Given the description of an element on the screen output the (x, y) to click on. 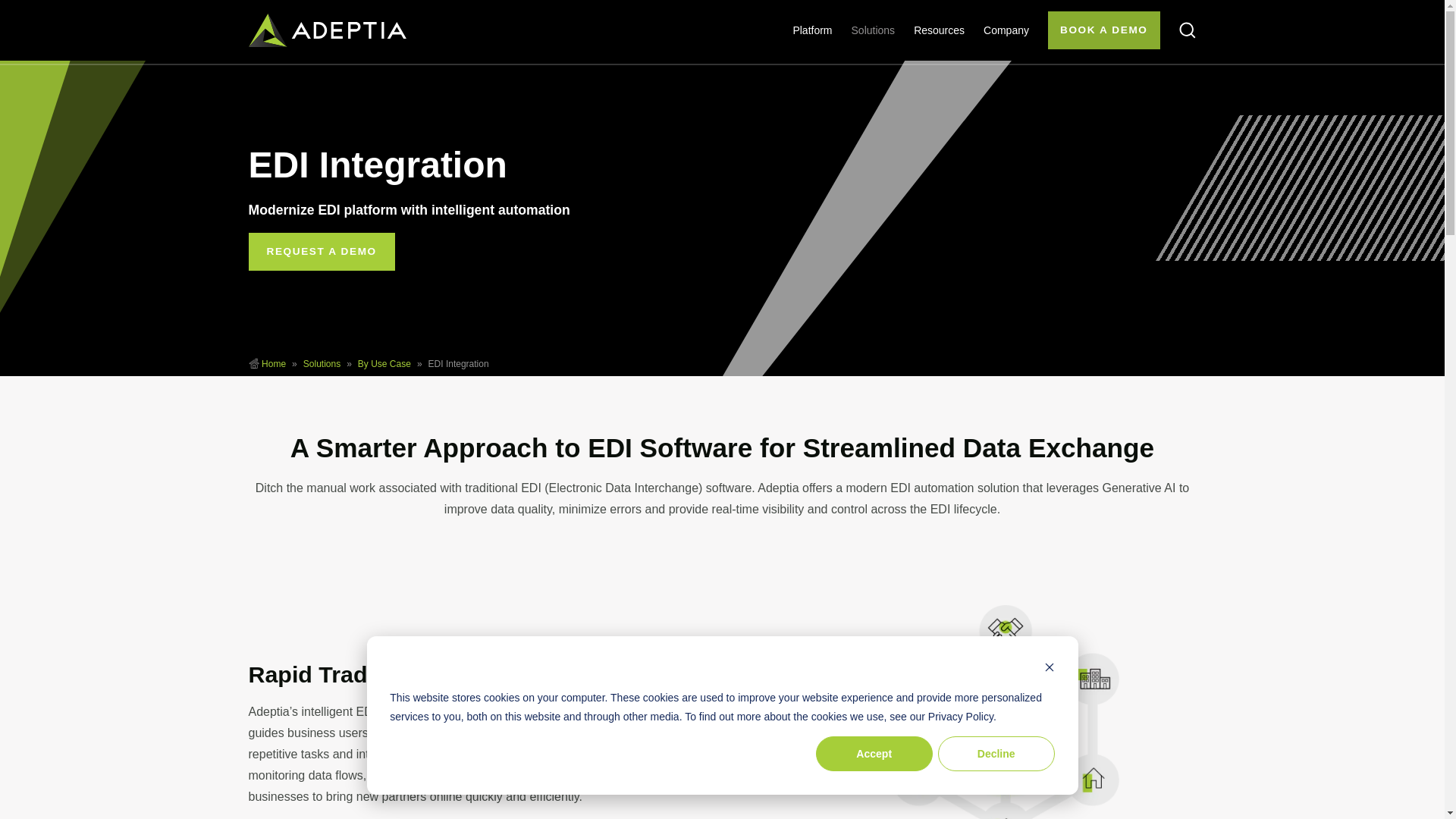
Solutions (873, 30)
Get a Demo Today (321, 251)
Adeptia (273, 363)
Platform (812, 30)
Resources (938, 30)
Back to home (327, 29)
Solutions by Use Case (384, 363)
Book a Demo (1104, 30)
Solutions (321, 363)
